Given the description of an element on the screen output the (x, y) to click on. 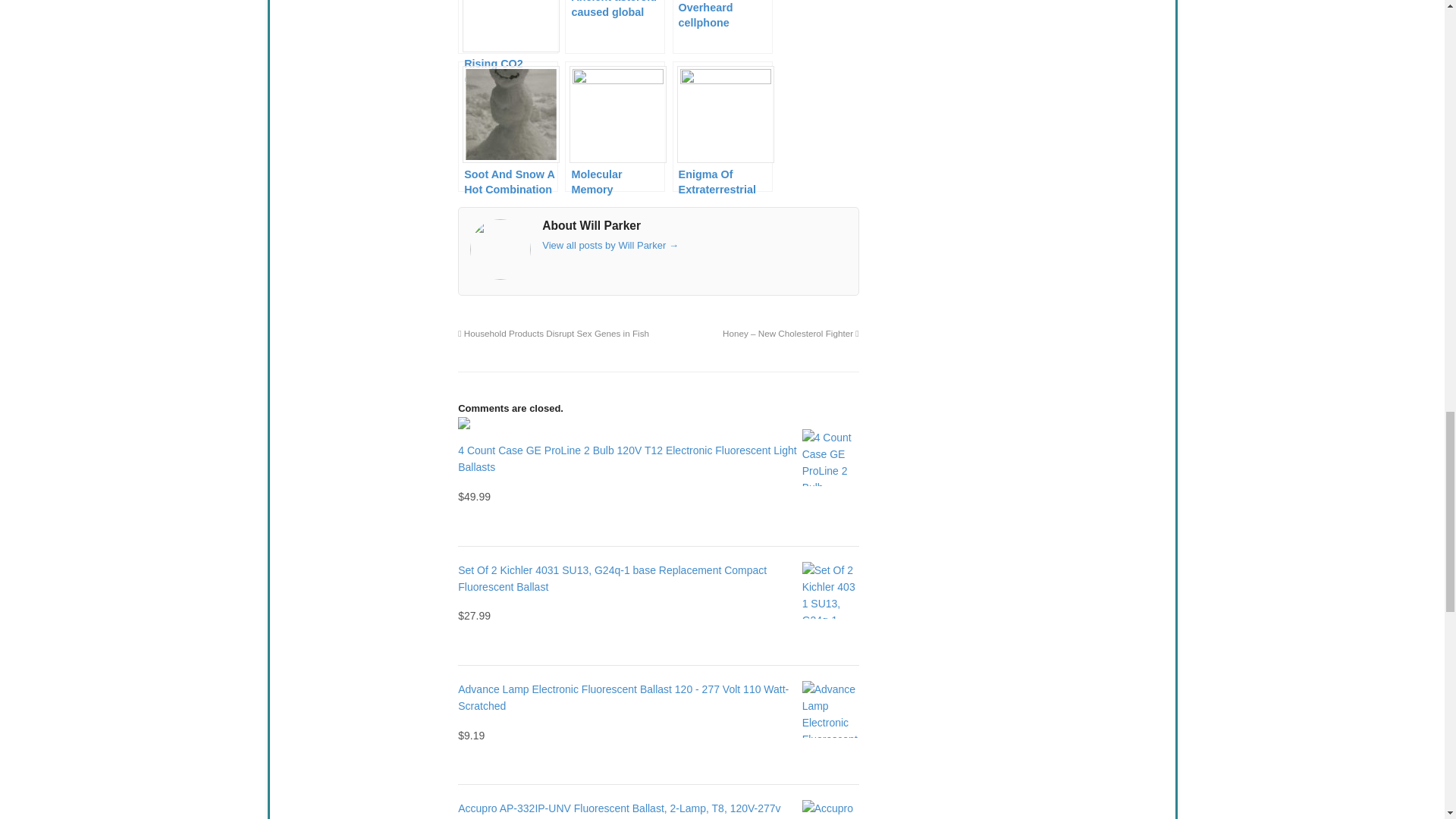
Ancient asteroid caused global firestorm on Earth (614, 27)
Rising CO2 giving fish super-hearing (507, 27)
